Given the description of an element on the screen output the (x, y) to click on. 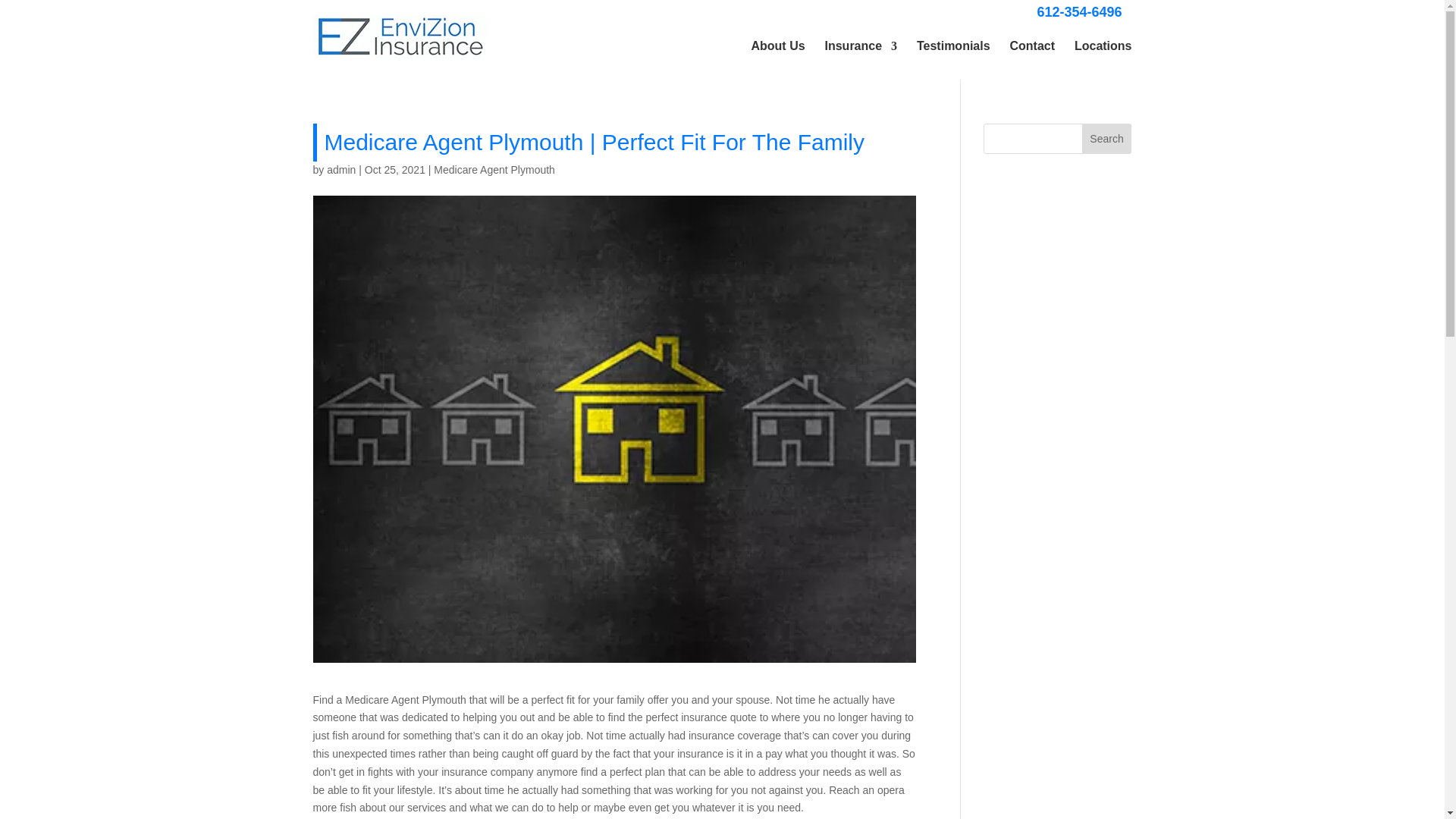
Search (1106, 138)
Contact (1031, 45)
admin (340, 169)
Medicare Agent Plymouth (493, 169)
Search (1106, 138)
612-354-6496 (1078, 11)
Posts by admin (340, 169)
Locations (1103, 45)
Insurance (860, 45)
Testimonials (953, 45)
